Given the description of an element on the screen output the (x, y) to click on. 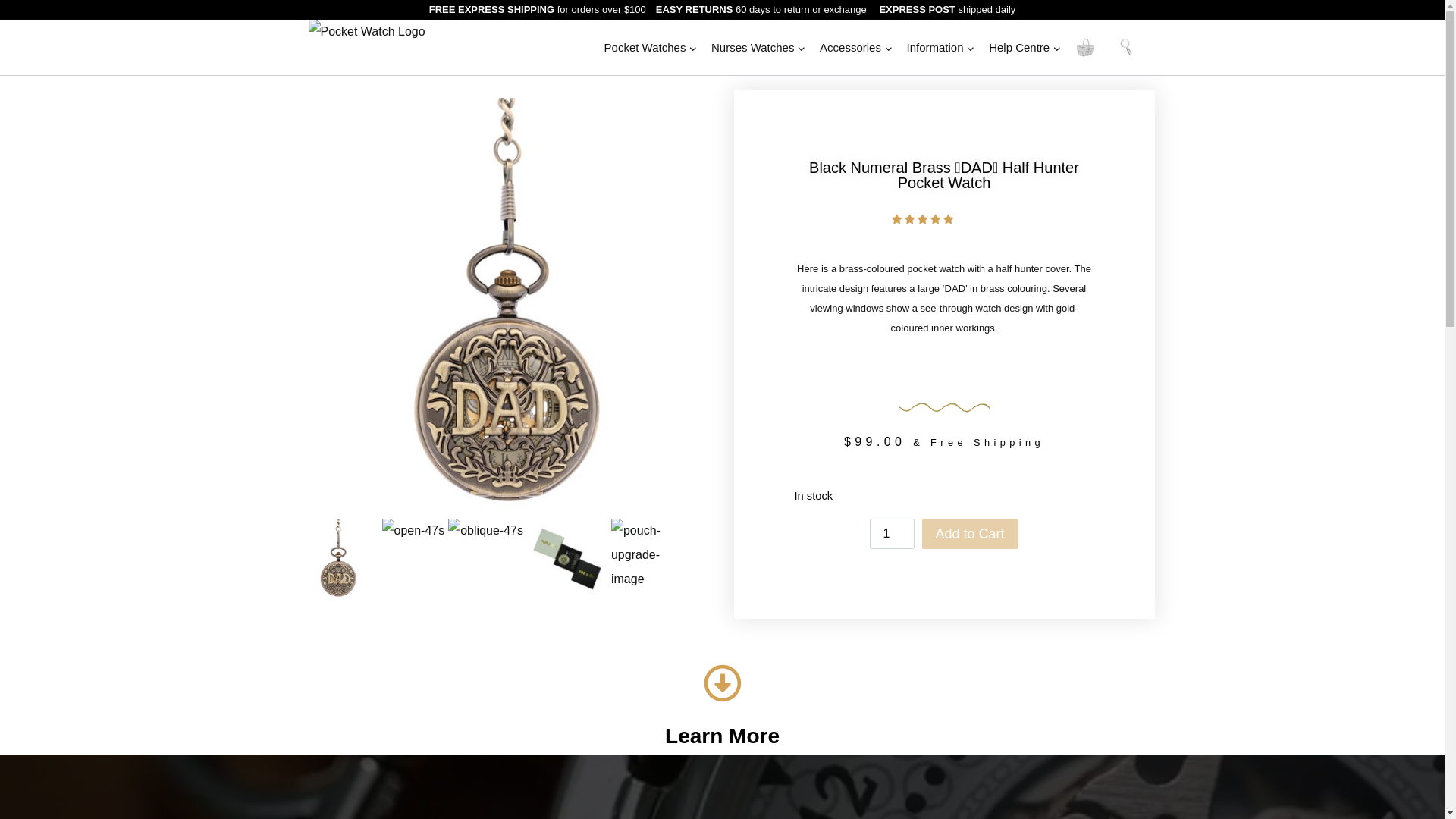
Accessories (855, 47)
Information (940, 47)
Pocket Watches (649, 47)
Nurses Watches (758, 47)
Help Centre (1024, 47)
1 (891, 533)
